Given the description of an element on the screen output the (x, y) to click on. 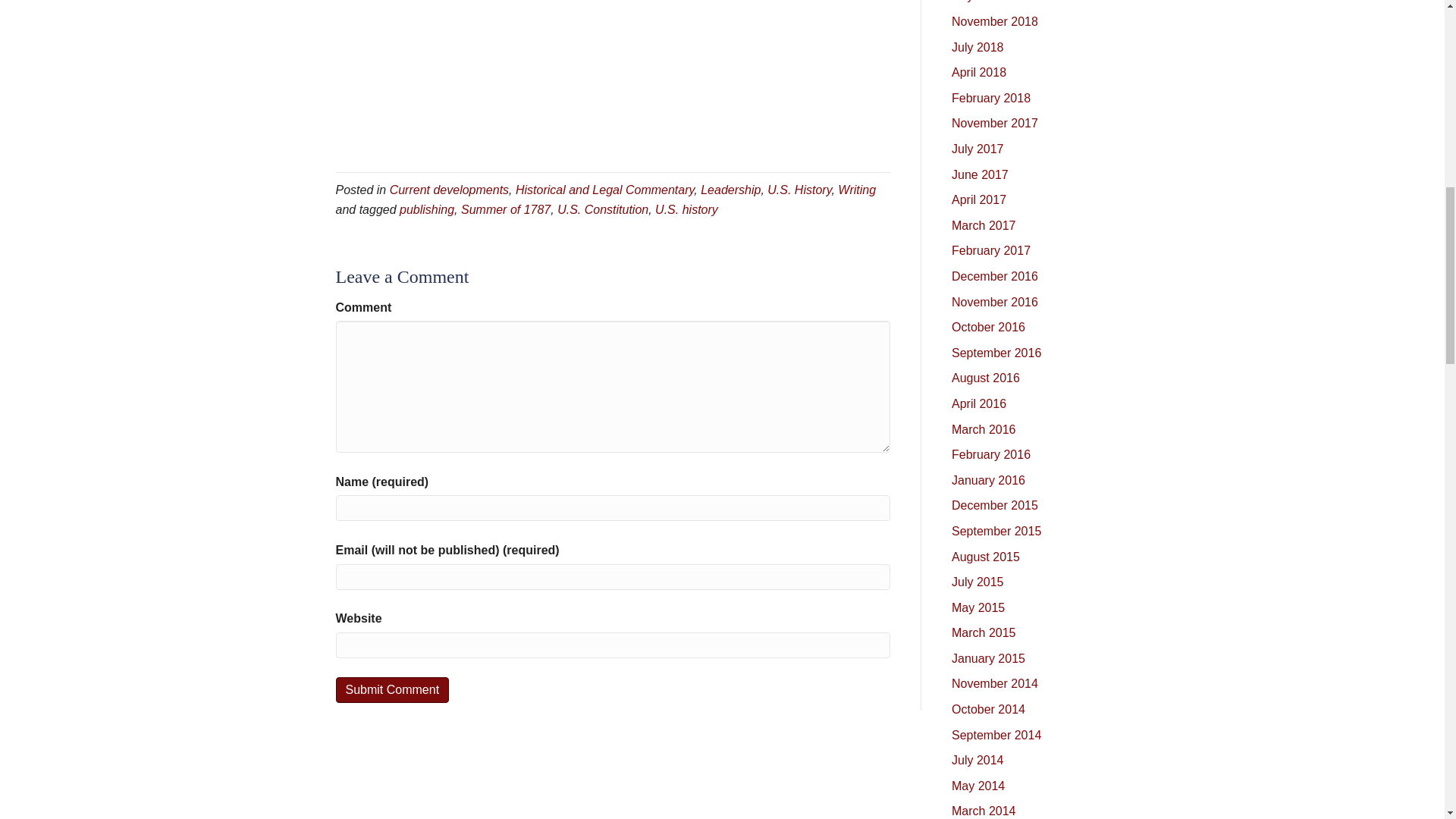
Current developments (449, 189)
Submit Comment (391, 689)
publishing (426, 209)
U.S. Constitution (602, 209)
Submit Comment (391, 689)
Writing (857, 189)
Historical and Legal Commentary (604, 189)
Summer of 1787 (505, 209)
U.S. history (686, 209)
Leadership (730, 189)
U.S. History (799, 189)
